Given the description of an element on the screen output the (x, y) to click on. 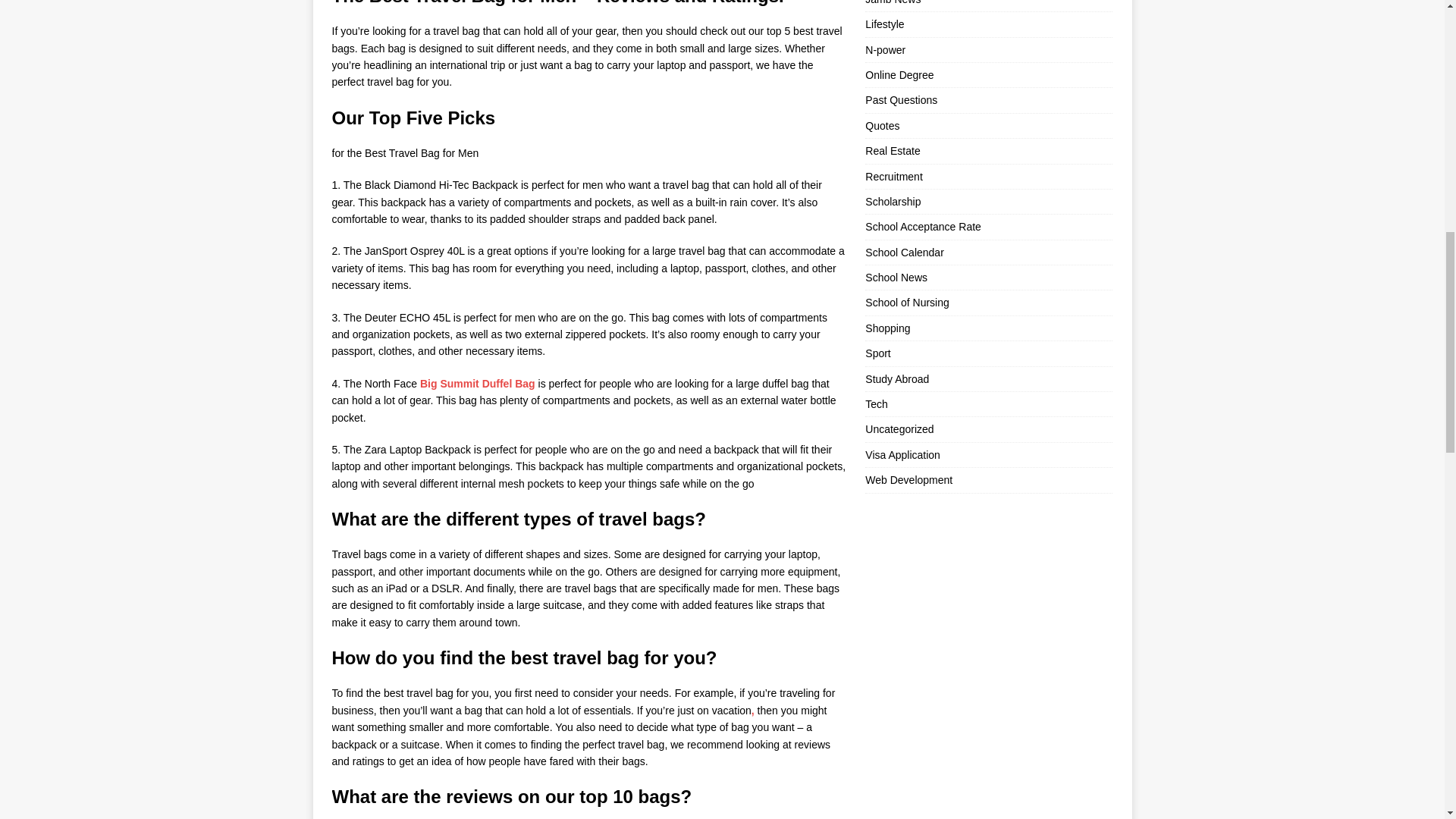
, (752, 710)
Big Summit Duffel Bag (477, 383)
